Given the description of an element on the screen output the (x, y) to click on. 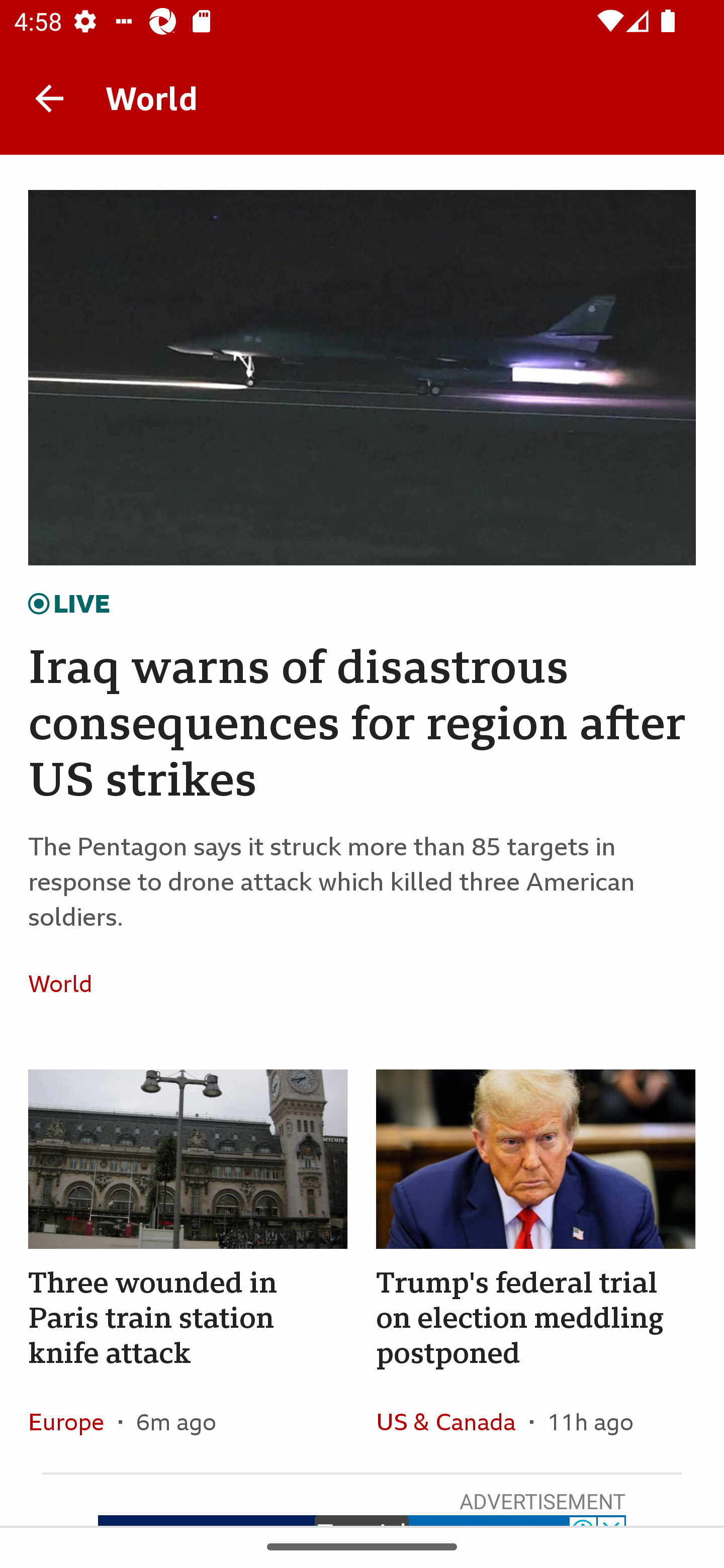
Back (49, 97)
World In the section World (67, 983)
Europe In the section Europe (73, 1421)
US & Canada In the section US & Canada (452, 1421)
